Given the description of an element on the screen output the (x, y) to click on. 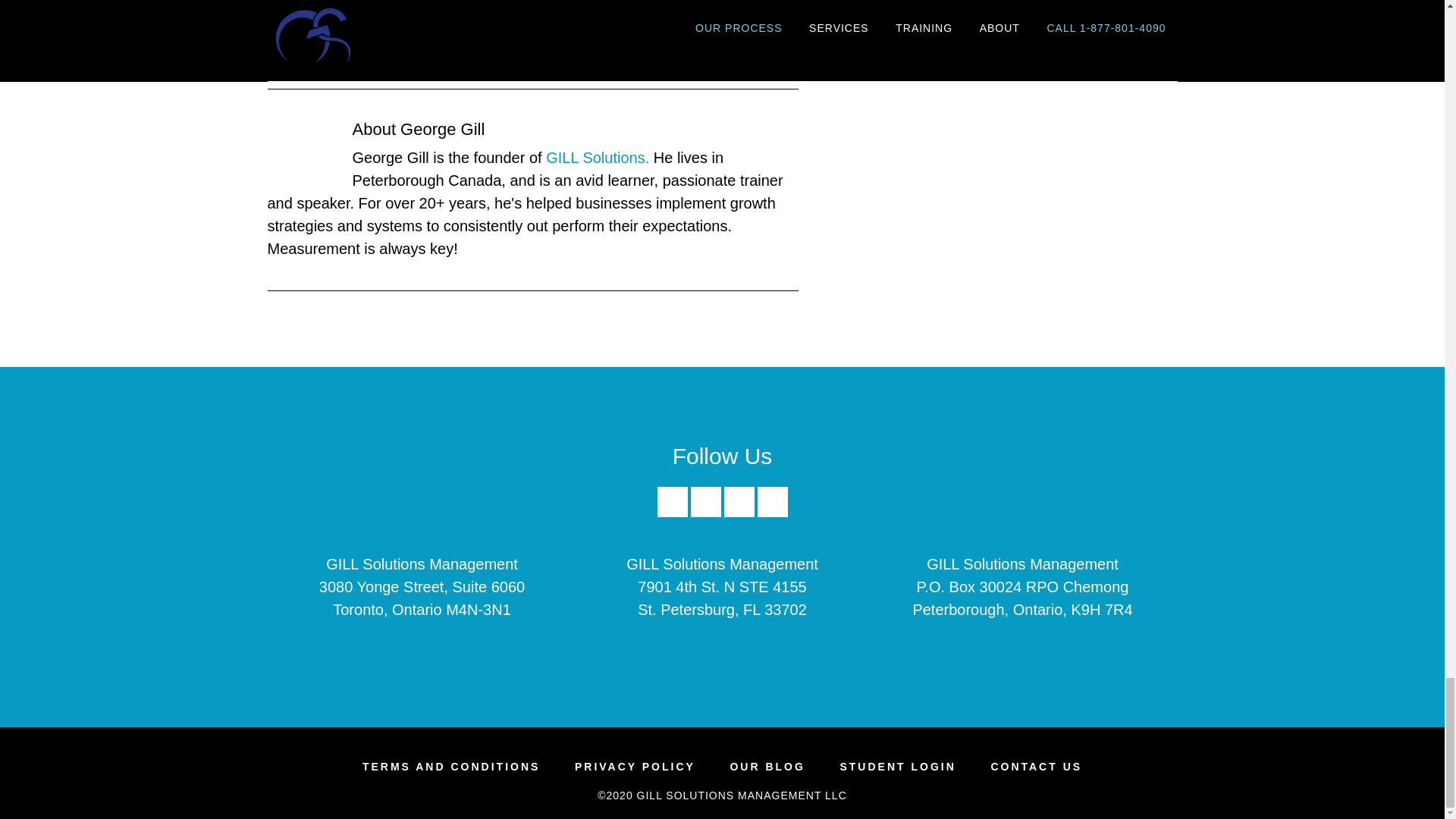
Twitter (738, 513)
Facebook (671, 501)
LinkedIn (705, 513)
YouTube (772, 513)
YouTube (772, 501)
Twitter (738, 501)
Facebook (671, 513)
LinkedIn (705, 501)
